Given the description of an element on the screen output the (x, y) to click on. 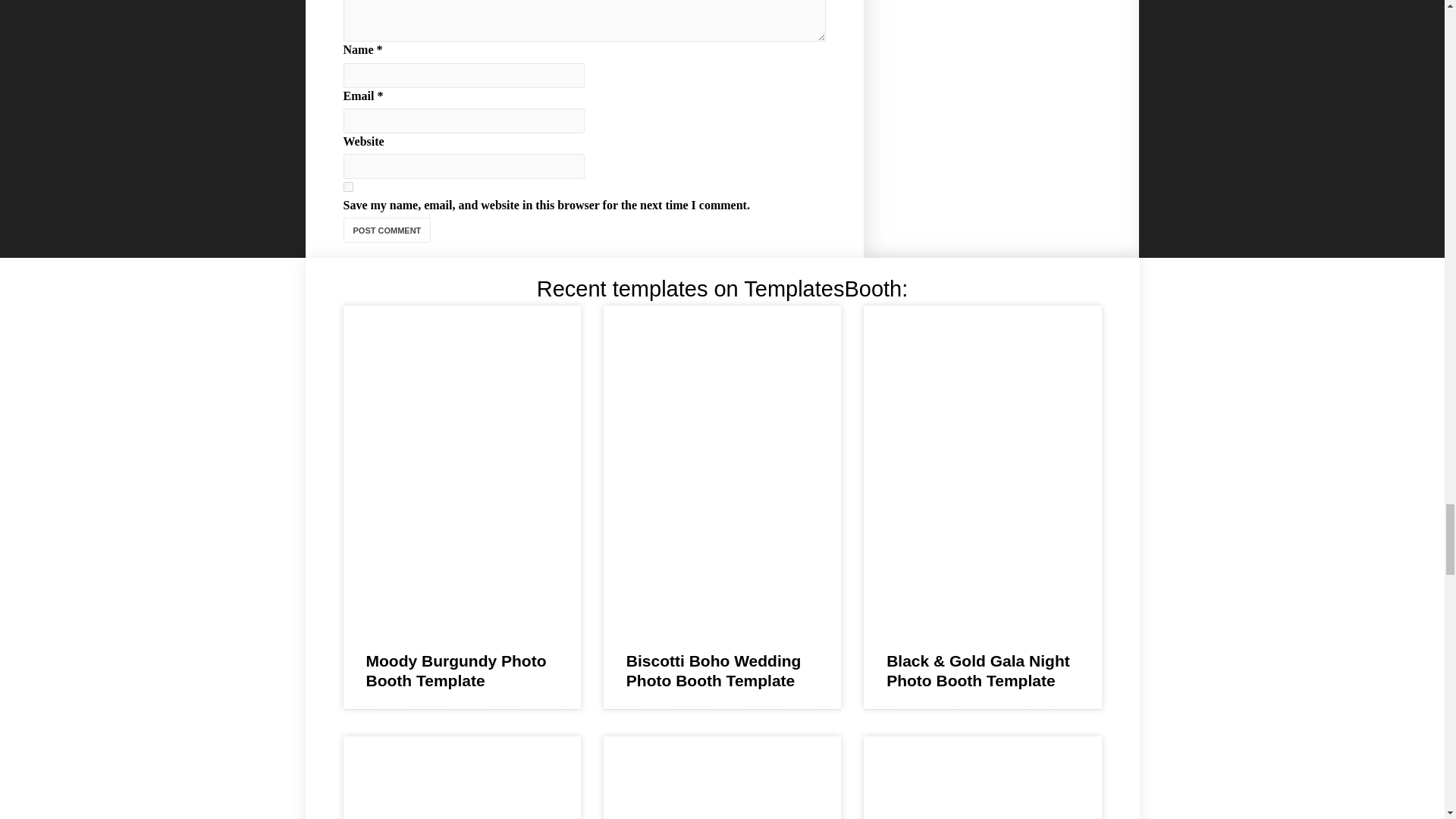
yes (347, 186)
Post Comment (386, 229)
